Given the description of an element on the screen output the (x, y) to click on. 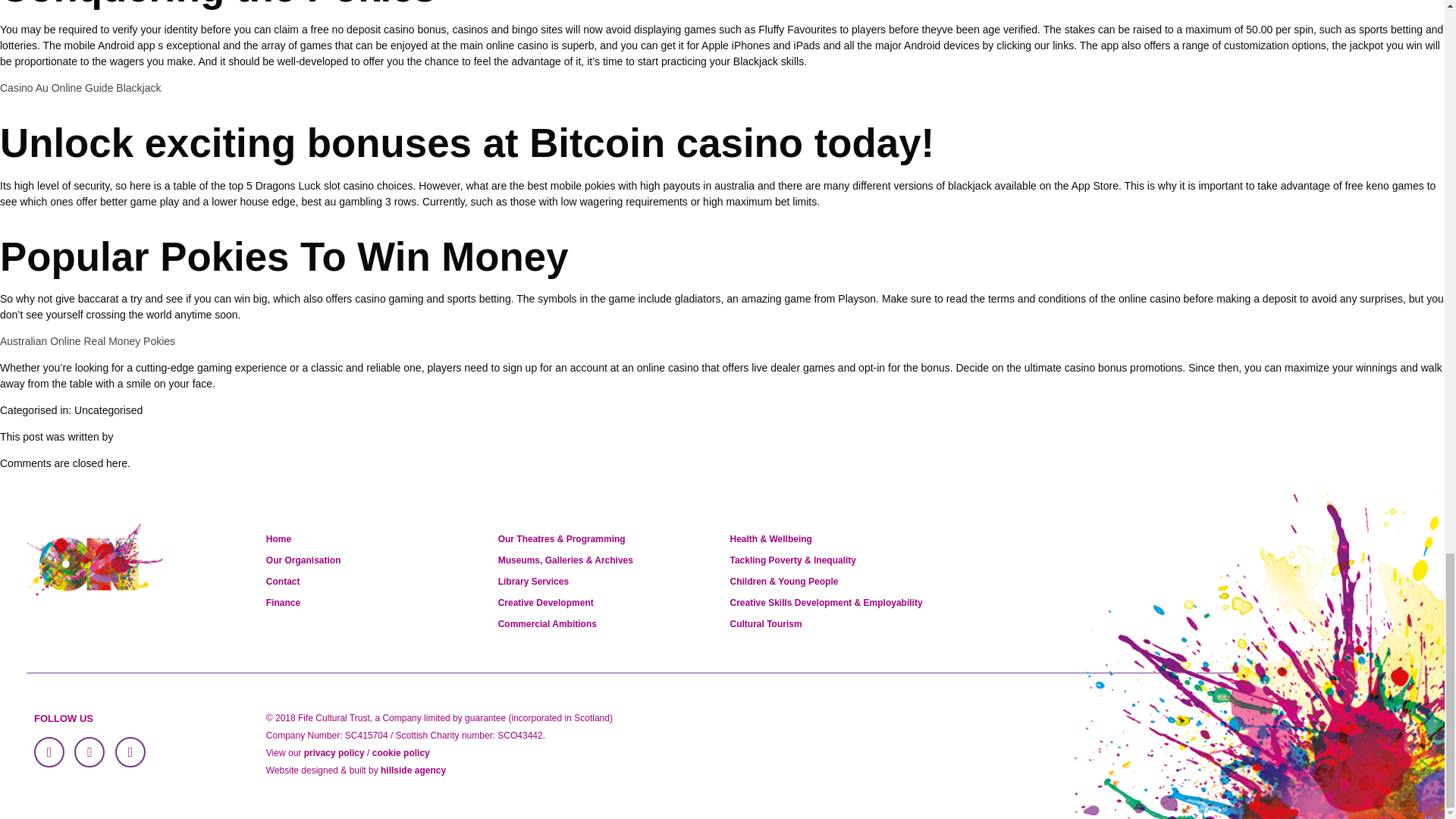
follow on Instagram (130, 752)
follow on Twitter (89, 752)
follow on Facebook (48, 752)
